Given the description of an element on the screen output the (x, y) to click on. 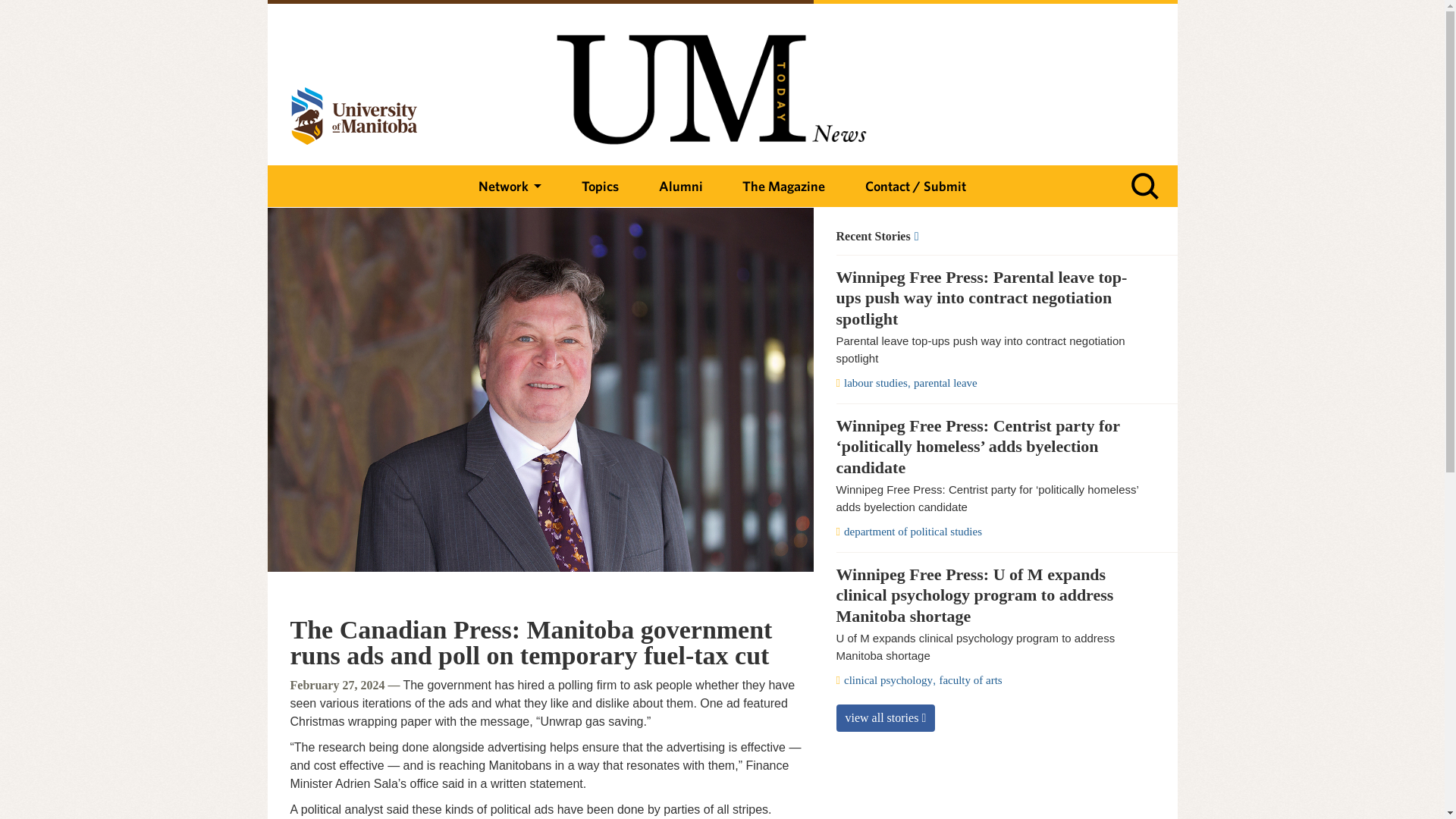
News Archives (986, 236)
Network (510, 186)
